Given the description of an element on the screen output the (x, y) to click on. 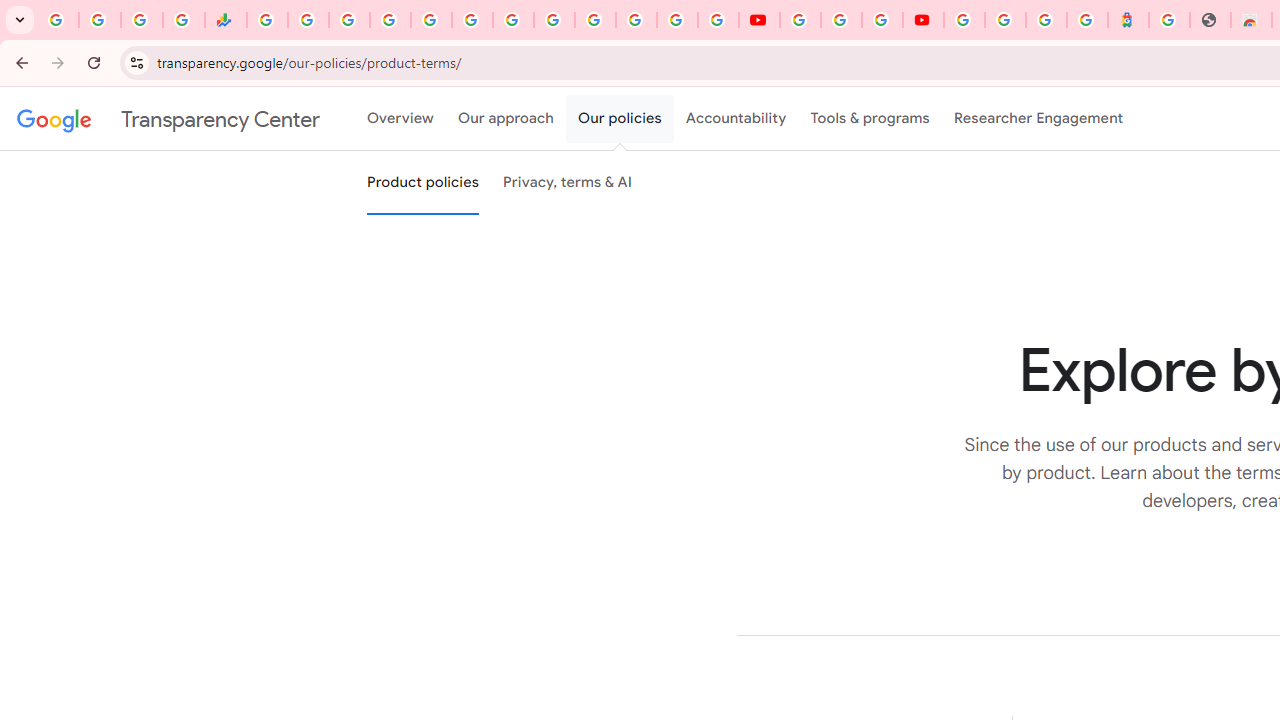
Google Workspace Admin Community (58, 20)
YouTube (553, 20)
Sign in - Google Accounts (964, 20)
Transparency Center (167, 119)
Content Creator Programs & Opportunities - YouTube Creators (923, 20)
Atour Hotel - Google hotels (1128, 20)
Sign in - Google Accounts (594, 20)
Sign in - Google Accounts (389, 20)
Sign in - Google Accounts (1005, 20)
Our policies (619, 119)
